Given the description of an element on the screen output the (x, y) to click on. 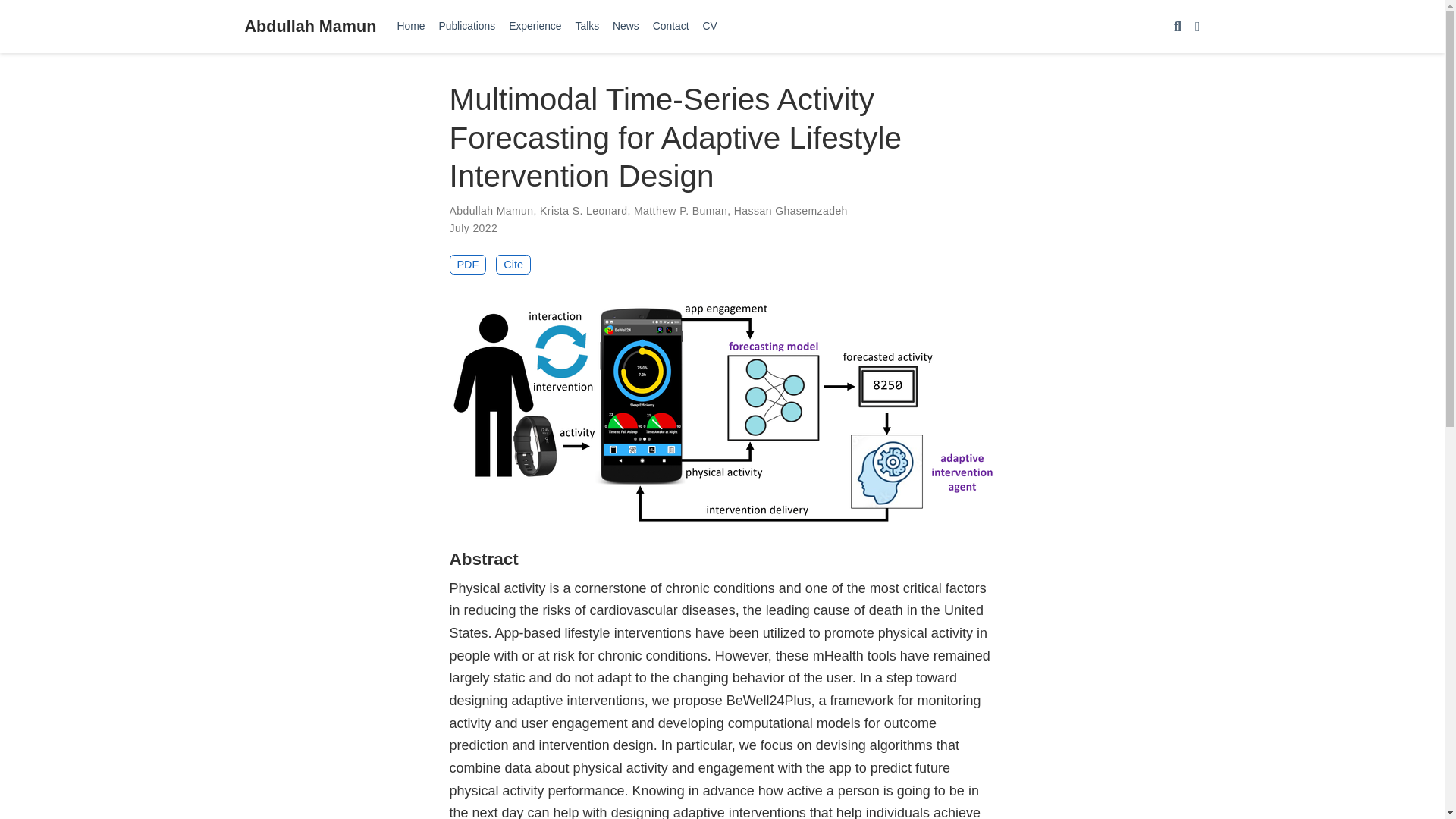
Contact (670, 26)
Talks (588, 26)
News (625, 26)
Abdullah Mamun (309, 26)
Publications (466, 26)
Home (410, 26)
PDF (467, 264)
Experience (534, 26)
Cite (513, 264)
CV (709, 26)
